Given the description of an element on the screen output the (x, y) to click on. 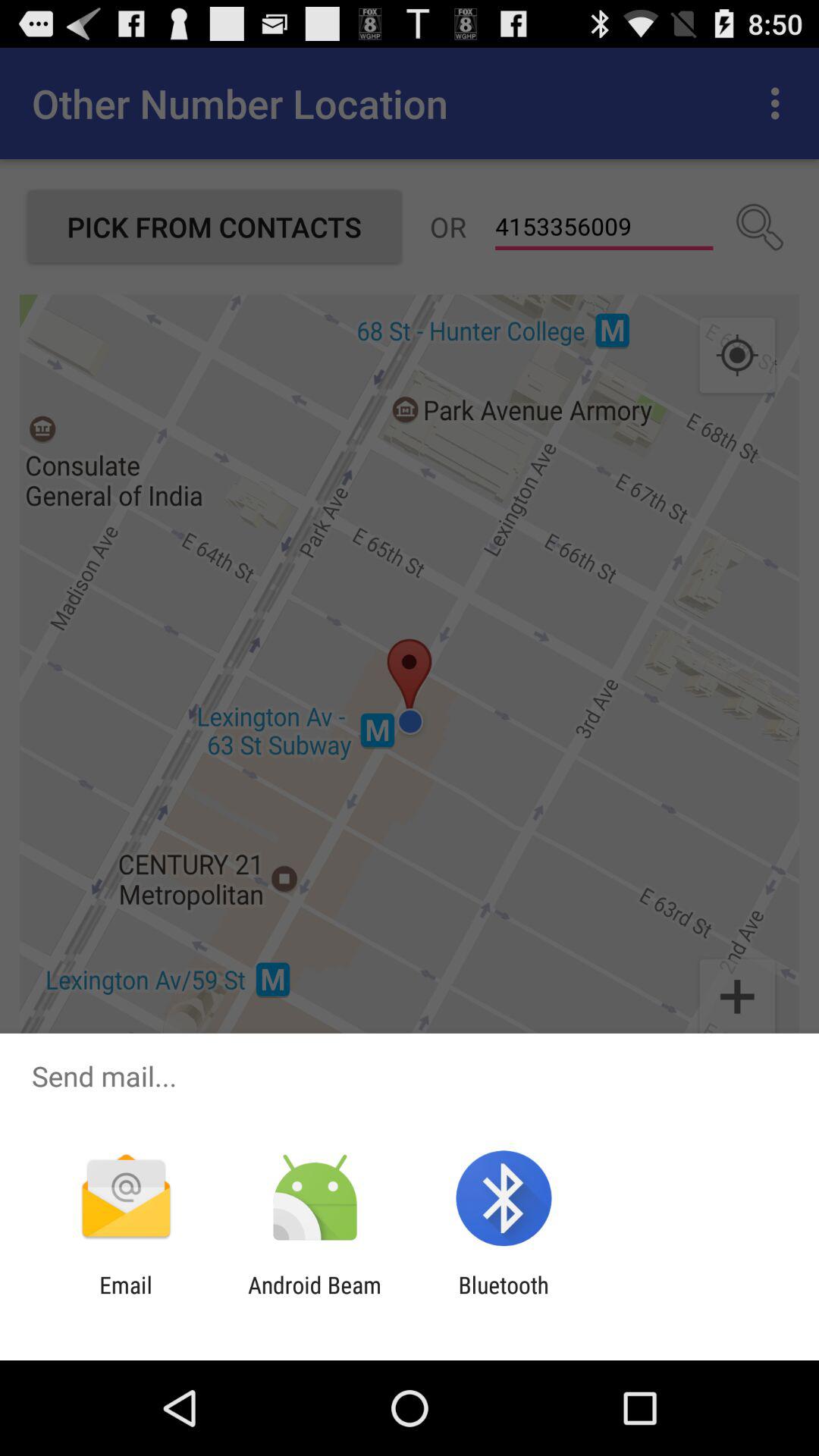
flip until bluetooth item (503, 1298)
